Given the description of an element on the screen output the (x, y) to click on. 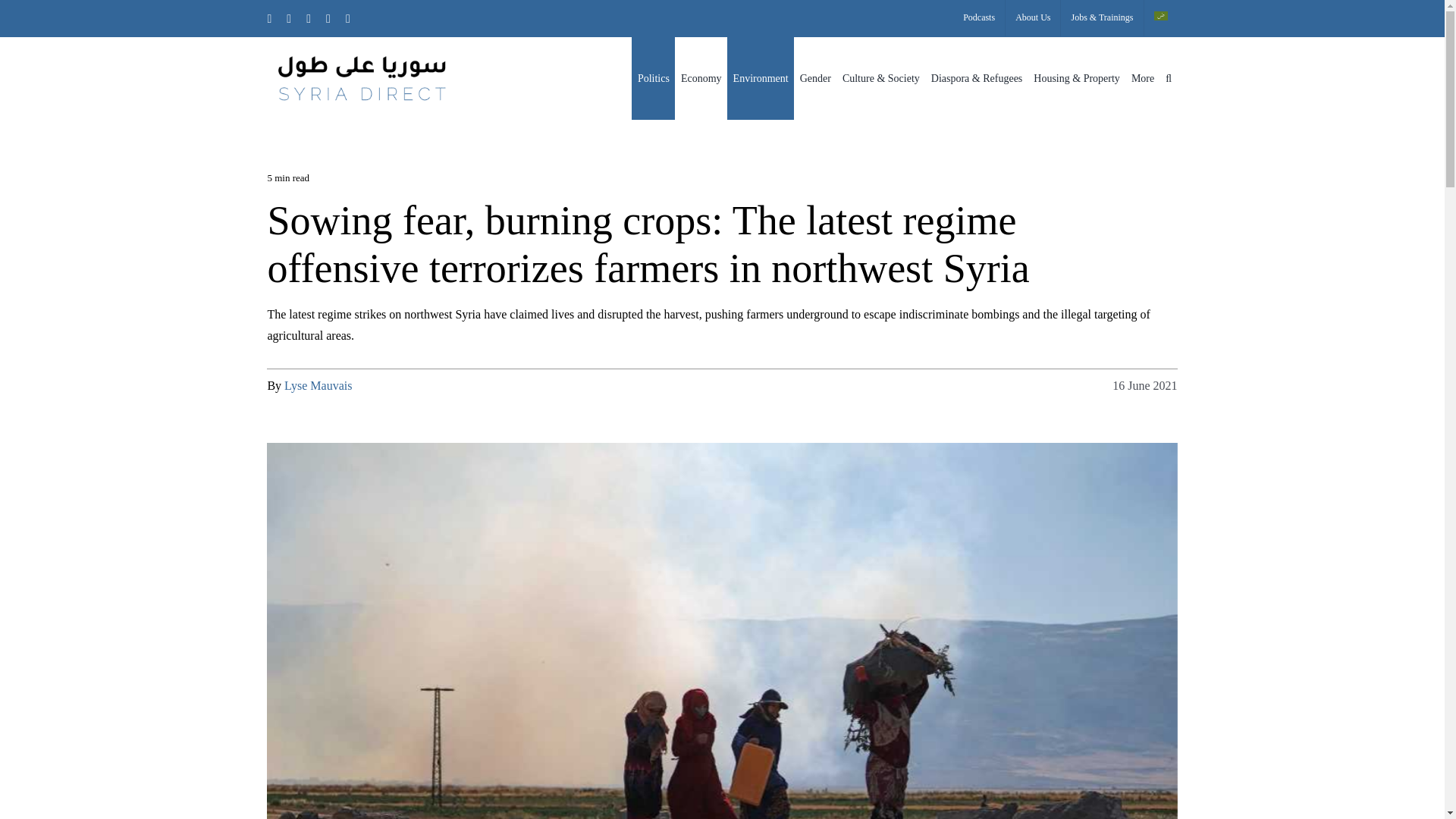
About Us (1032, 18)
Podcasts (978, 18)
